Given the description of an element on the screen output the (x, y) to click on. 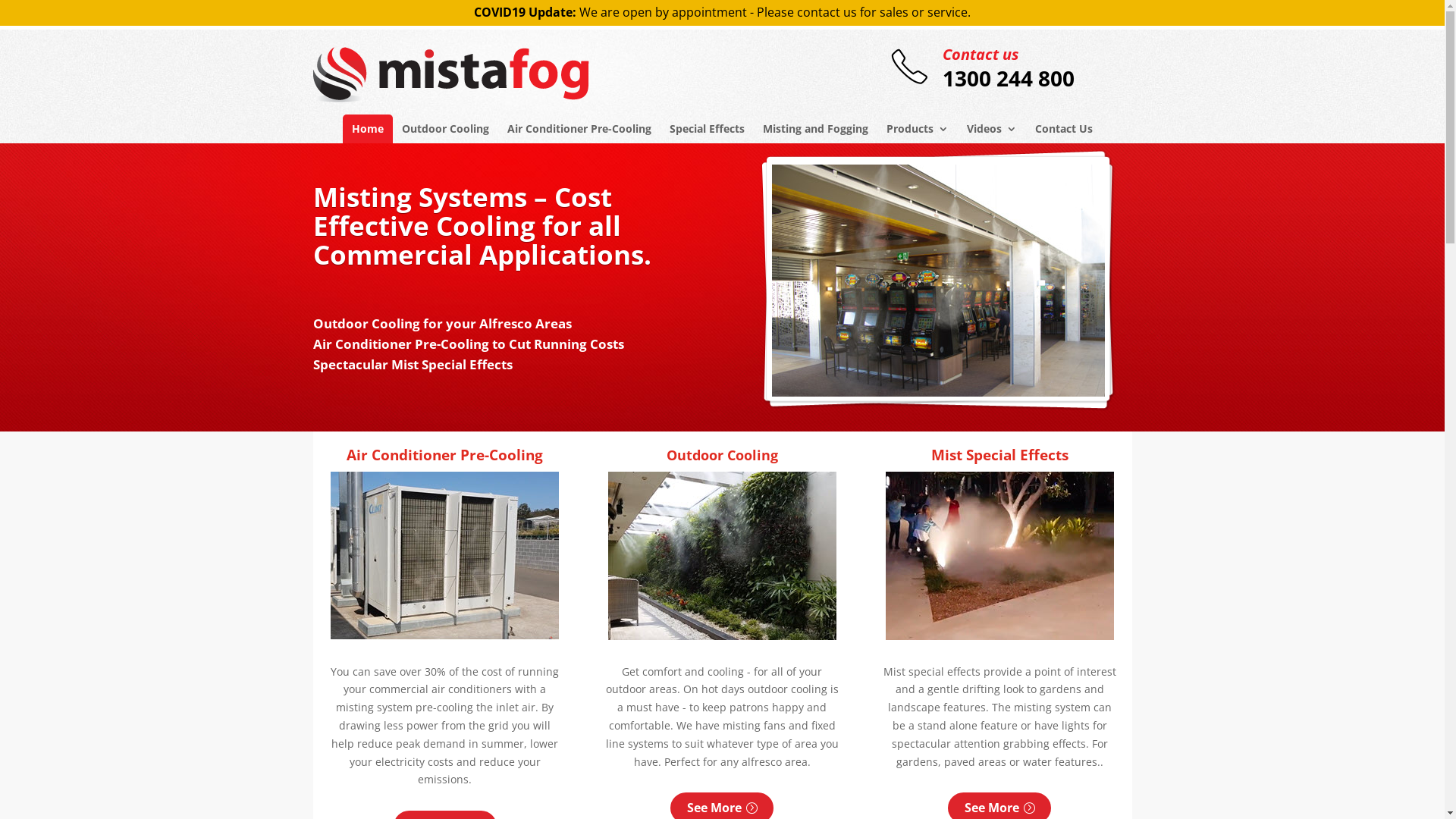
Home Element type: text (367, 128)
Air Conditioner Pre-Cooling Element type: text (579, 128)
Outdoor Cooling Element type: text (445, 128)
Special Effects Element type: text (706, 128)
Videos Element type: text (991, 128)
Misting and Fogging Element type: text (815, 128)
Products Element type: text (917, 128)
Contact Us Element type: text (1063, 128)
